Given the description of an element on the screen output the (x, y) to click on. 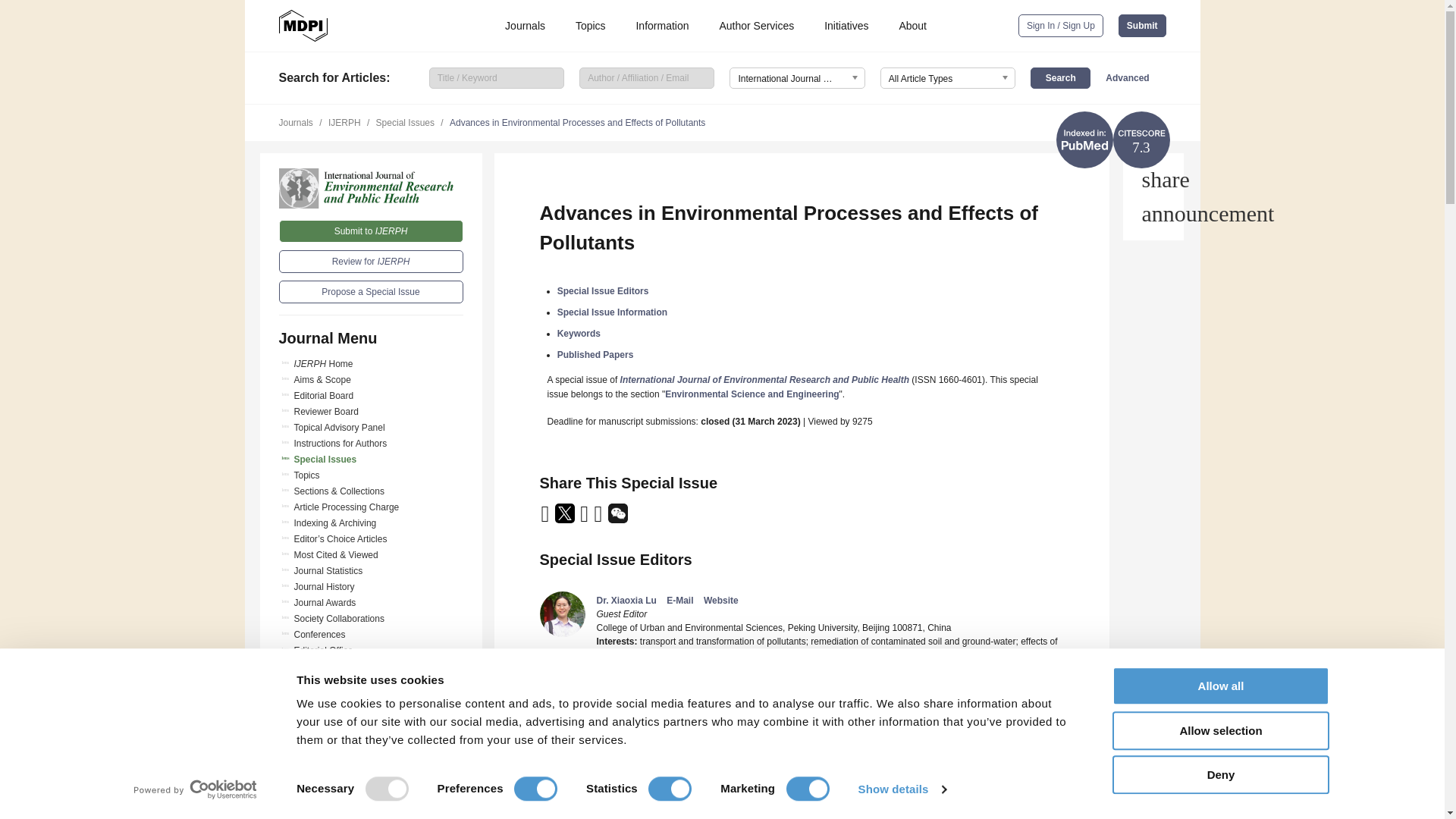
Go (371, 786)
Search (1060, 77)
Show details (900, 789)
Search (1060, 77)
